Given the description of an element on the screen output the (x, y) to click on. 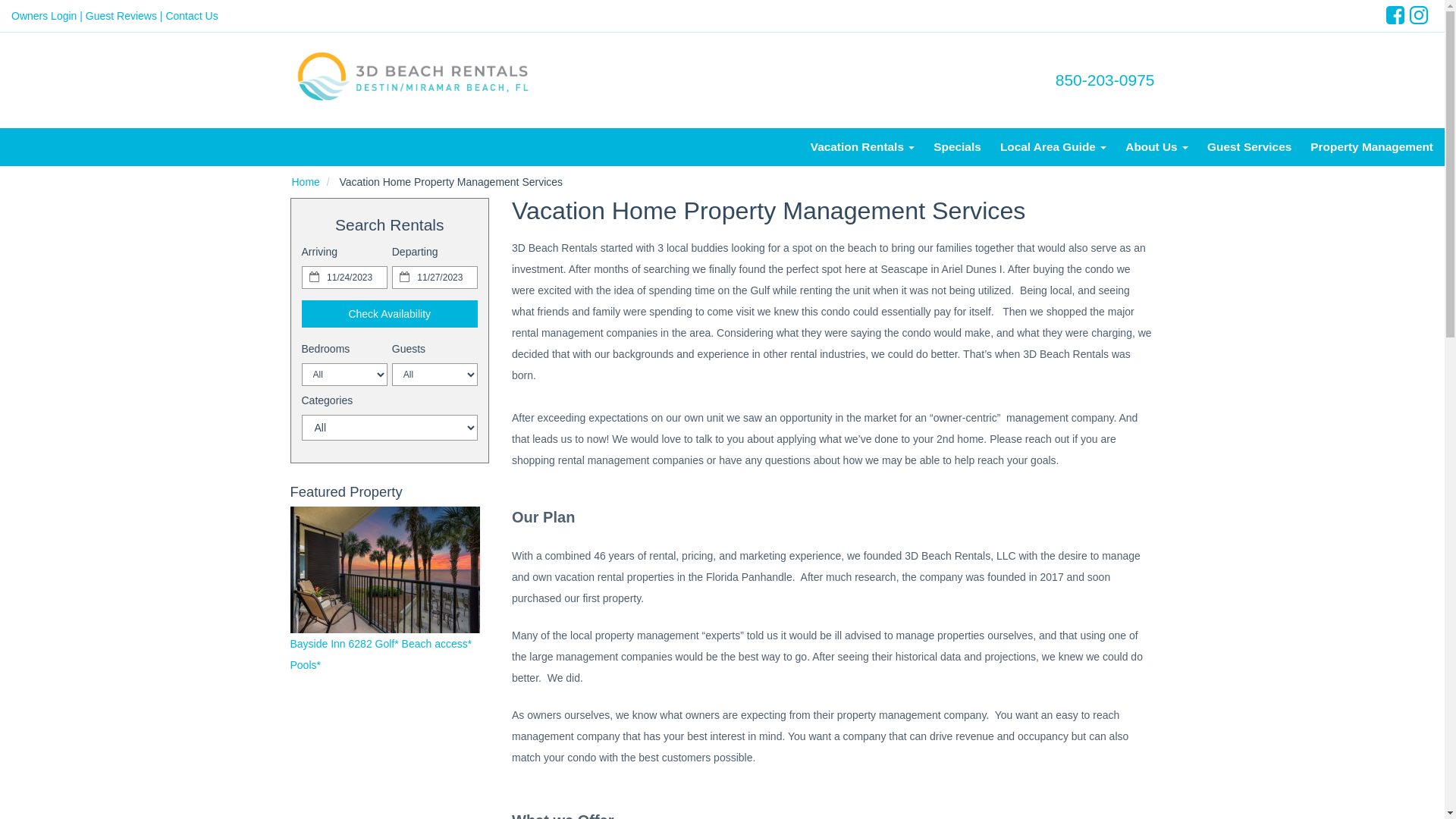
850-203-0975 Element type: text (1104, 79)
Vacation Rentals Element type: text (862, 146)
Property Management Element type: text (1367, 146)
Guest Reviews Element type: text (120, 15)
Specials Element type: text (957, 146)
Guest Services Element type: text (1248, 146)
Owners Login Element type: text (43, 15)
Contact Us Element type: text (191, 15)
About Us Element type: text (1157, 146)
Bayside Inn 6282 Golf* Beach access* Pools* Element type: text (380, 654)
Home Element type: text (305, 181)
Local Area Guide Element type: text (1052, 146)
Check Availability Element type: text (389, 313)
